Given the description of an element on the screen output the (x, y) to click on. 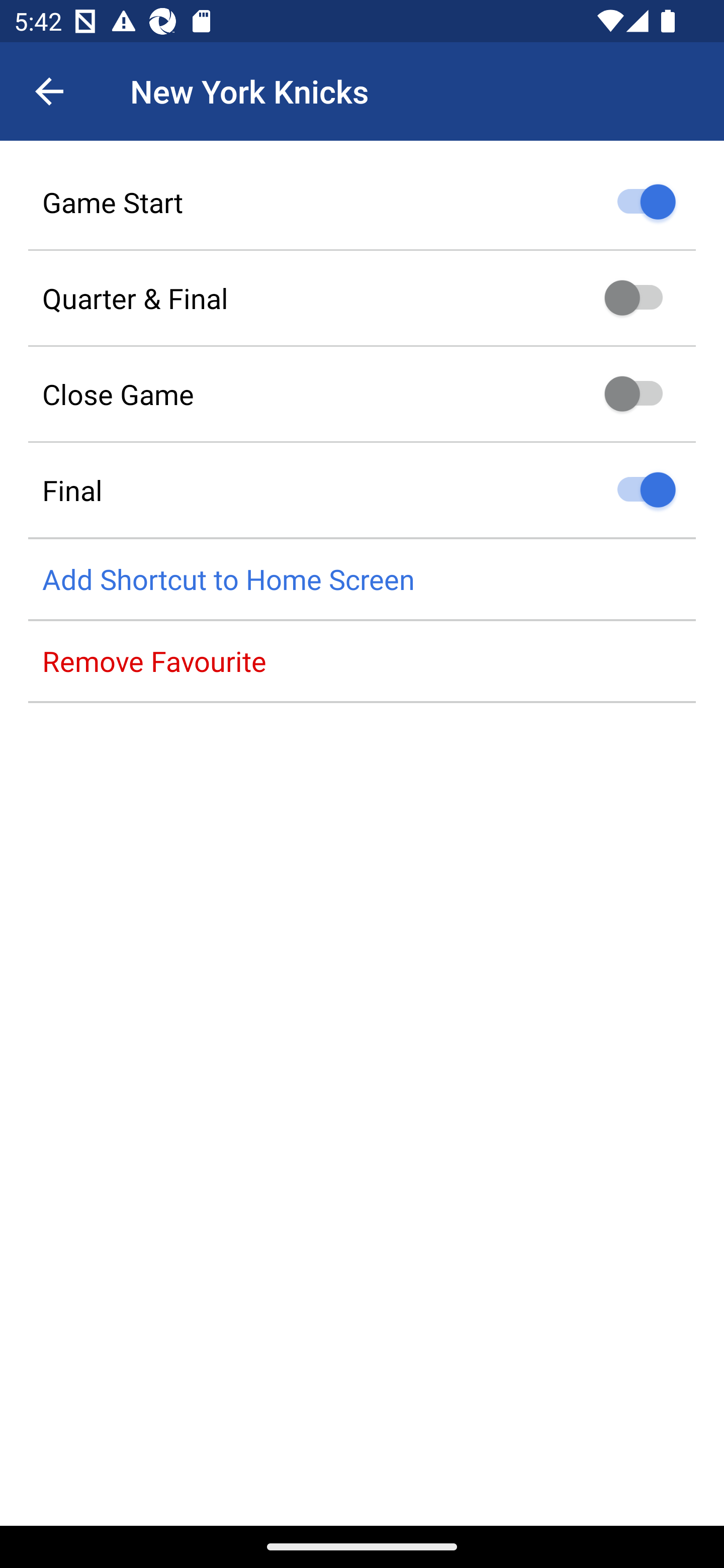
Navigate up (49, 91)
Add Shortcut to Home Screen (362, 579)
Remove Favourite (362, 661)
